Given the description of an element on the screen output the (x, y) to click on. 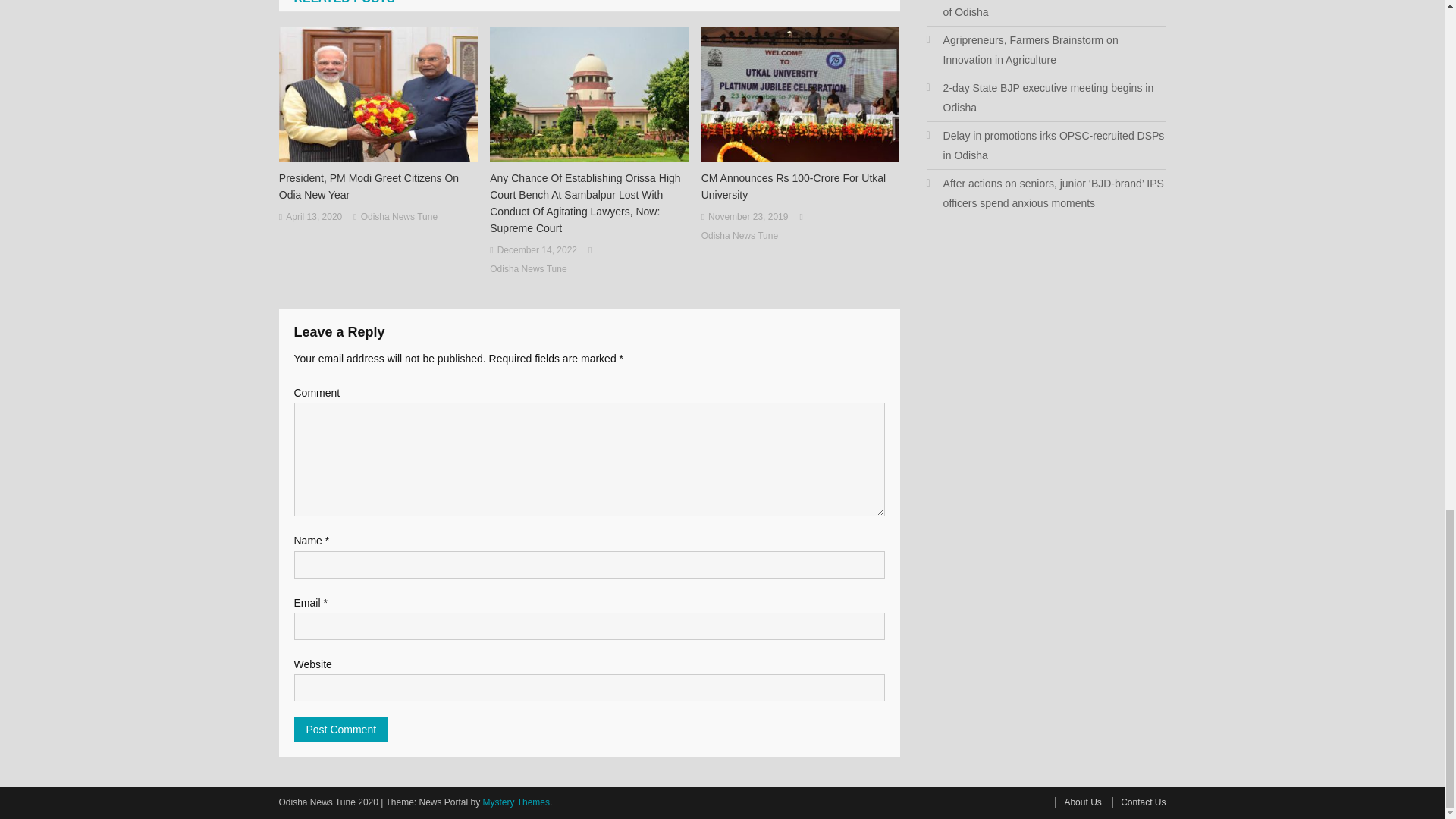
December 14, 2022 (536, 250)
Odisha News Tune (399, 217)
Odisha News Tune (527, 269)
April 13, 2020 (313, 217)
President, PM Modi Greet Citizens On Odia New Year (378, 186)
Post Comment (341, 729)
